Given the description of an element on the screen output the (x, y) to click on. 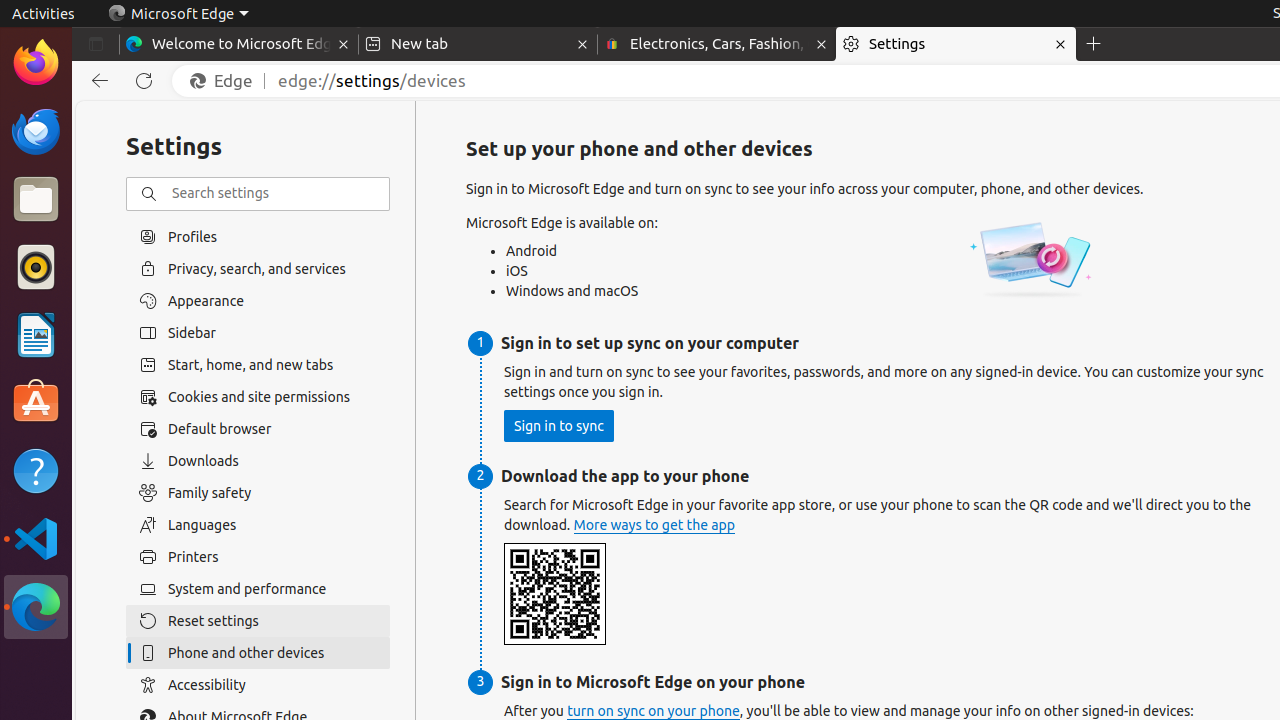
Electronics, Cars, Fashion, Collectibles & More | eBay Element type: page-tab (717, 44)
Default browser Element type: tree-item (258, 429)
iOS Element type: list-item (577, 271)
Appearance Element type: tree-item (258, 301)
Close tab Element type: push-button (343, 44)
